Given the description of an element on the screen output the (x, y) to click on. 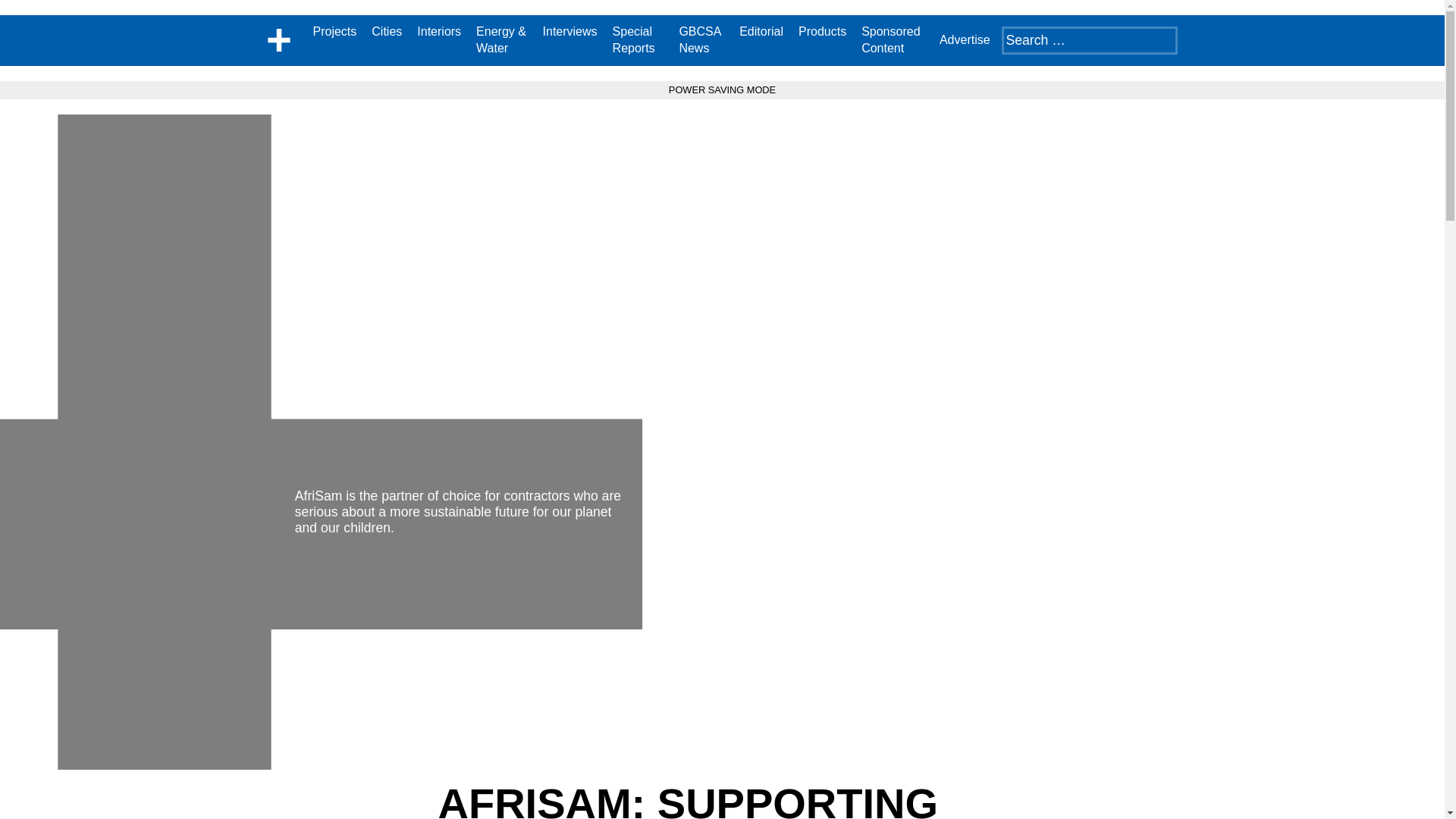
Interiors (438, 31)
Search (34, 13)
Editorial (761, 31)
Products (821, 31)
Projects (334, 31)
Sponsored Content (892, 40)
Cities (386, 31)
Special Reports (637, 40)
Advertise (964, 39)
Interviews (569, 31)
